Given the description of an element on the screen output the (x, y) to click on. 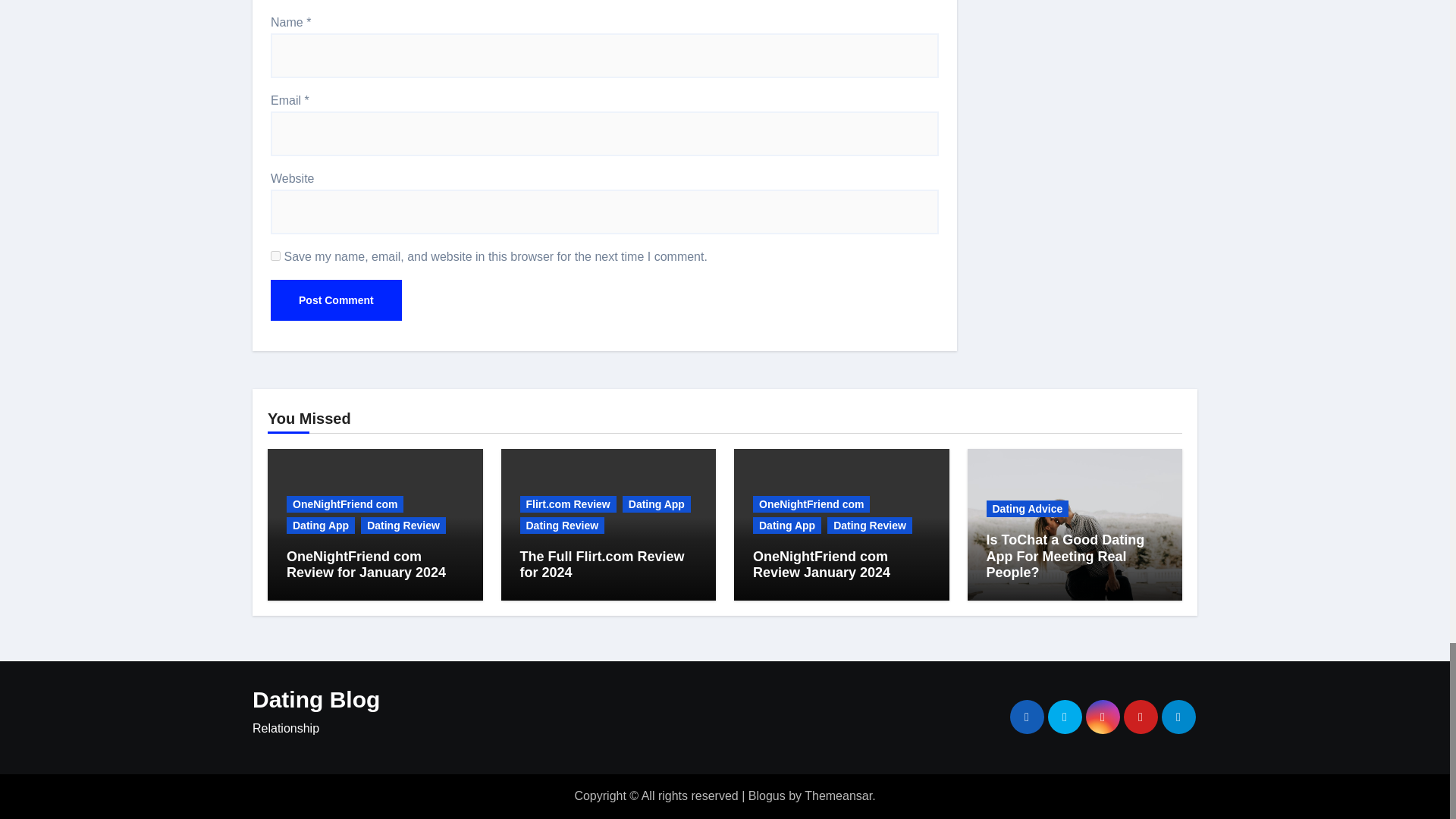
Permalink to: OneNightFriend com Review for January 2024 (365, 564)
Permalink to: The Full Flirt.com Review for 2024 (601, 564)
Permalink to: OneNightFriend com Review January 2024 (820, 564)
Post Comment (335, 300)
yes (275, 255)
